Given the description of an element on the screen output the (x, y) to click on. 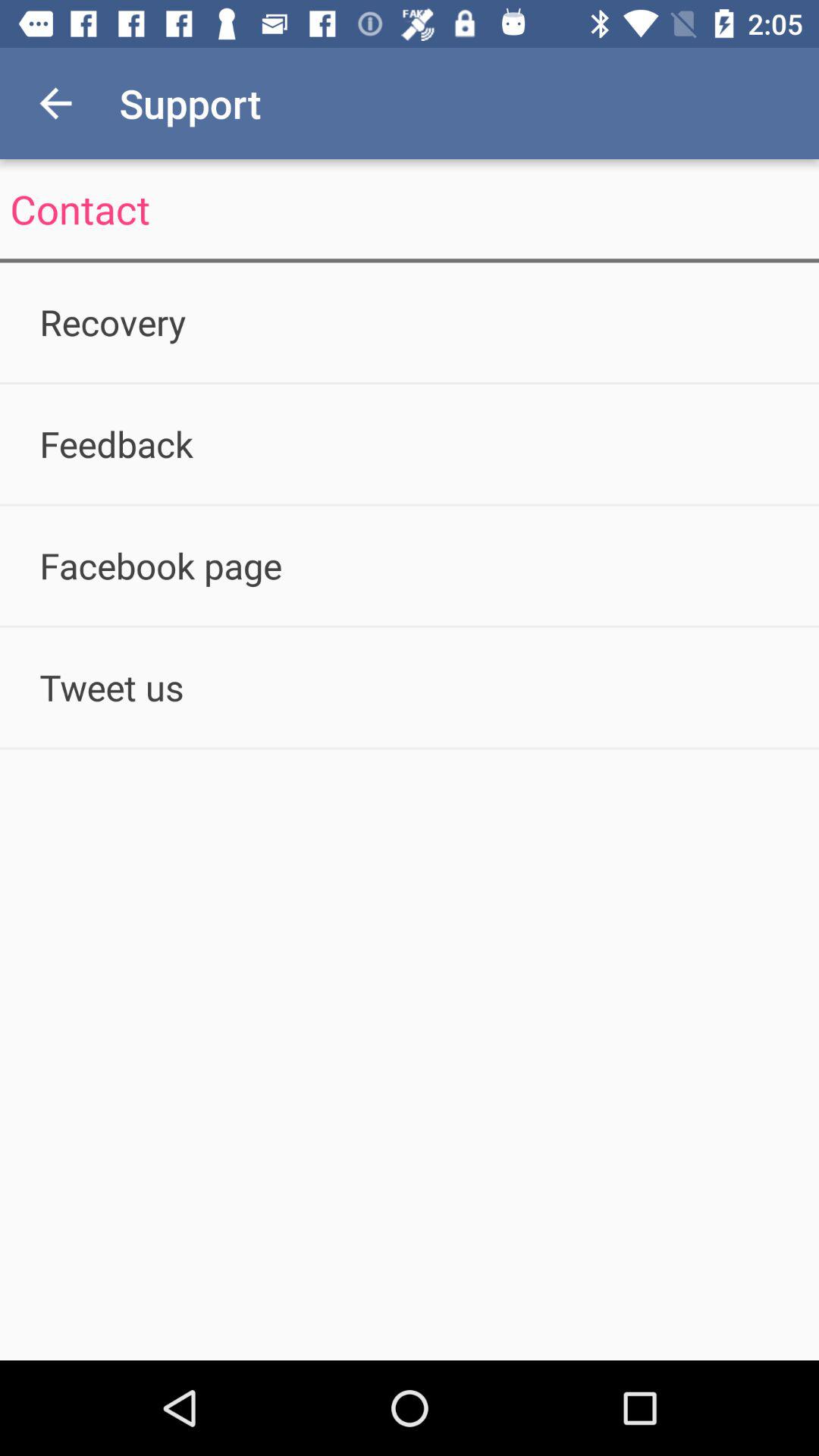
press the icon to the left of the support app (55, 103)
